Given the description of an element on the screen output the (x, y) to click on. 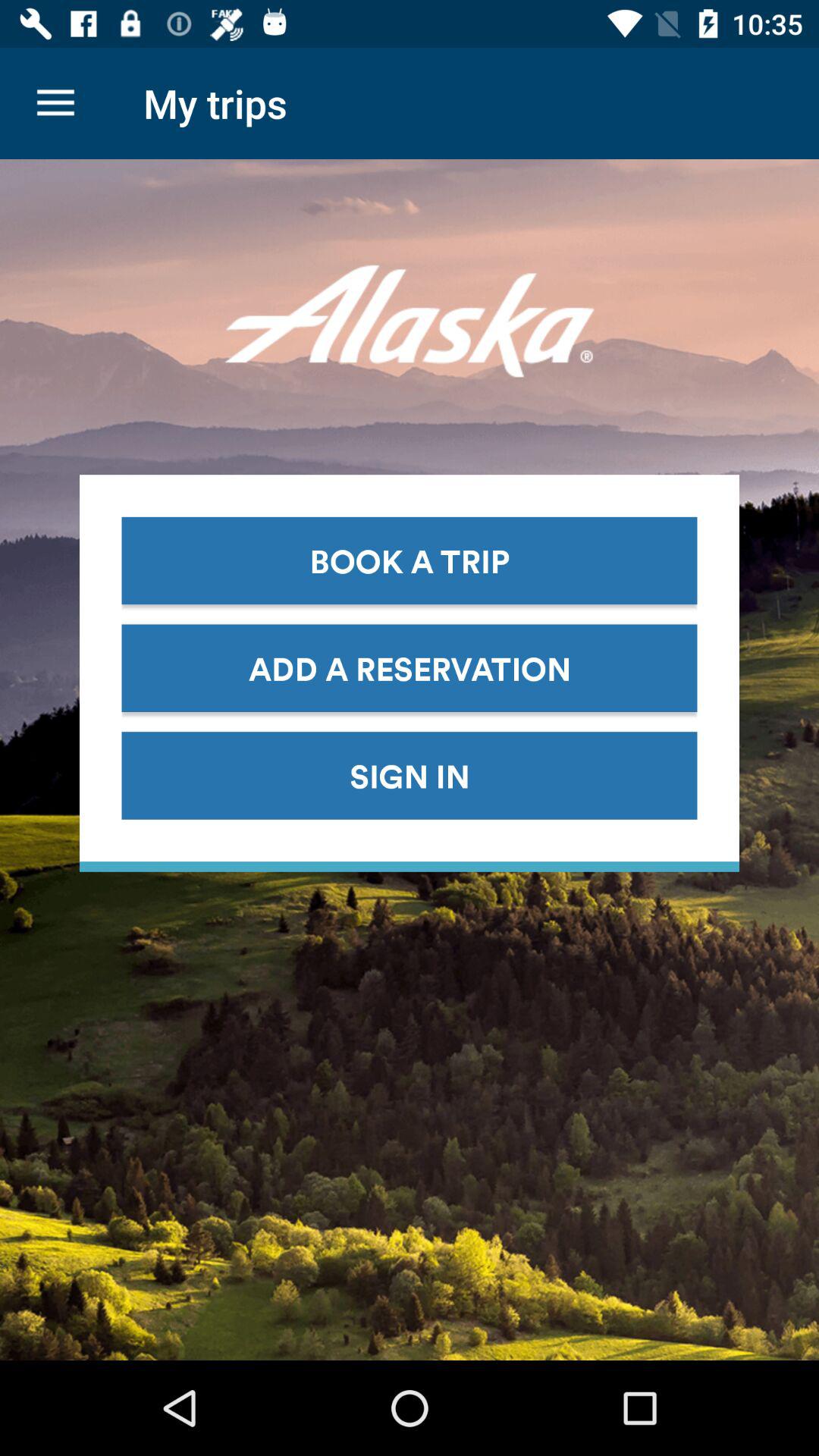
scroll until the book a trip icon (409, 560)
